Given the description of an element on the screen output the (x, y) to click on. 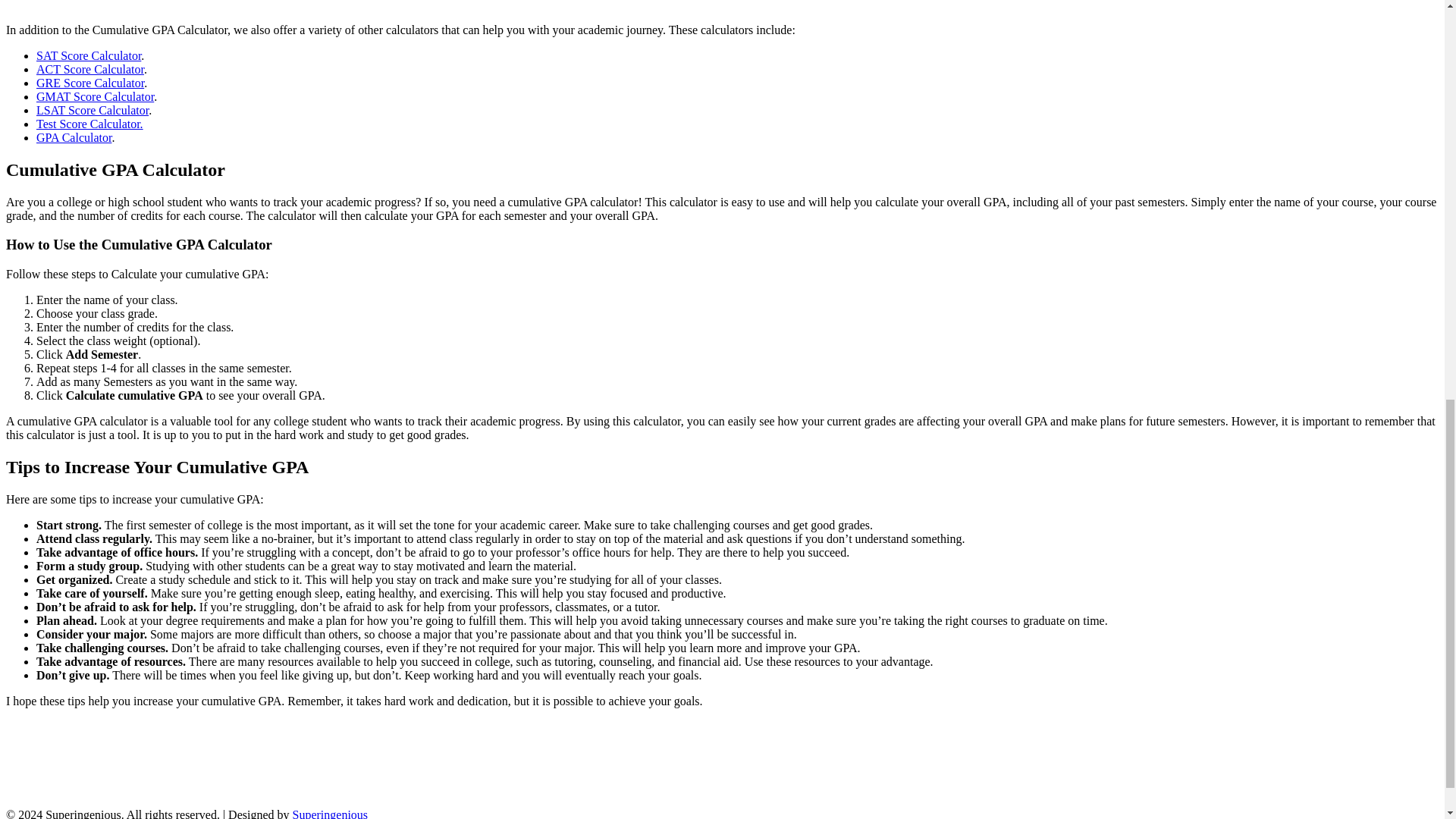
GRE Score Calculator (90, 82)
GMAT Score Calculator (95, 96)
Test Score Calculator. (89, 123)
LSAT Score Calculator (92, 110)
Superingenious (330, 813)
SAT Score Calculator (88, 55)
ACT Score Calculator (90, 69)
GPA Calculator (74, 137)
